Given the description of an element on the screen output the (x, y) to click on. 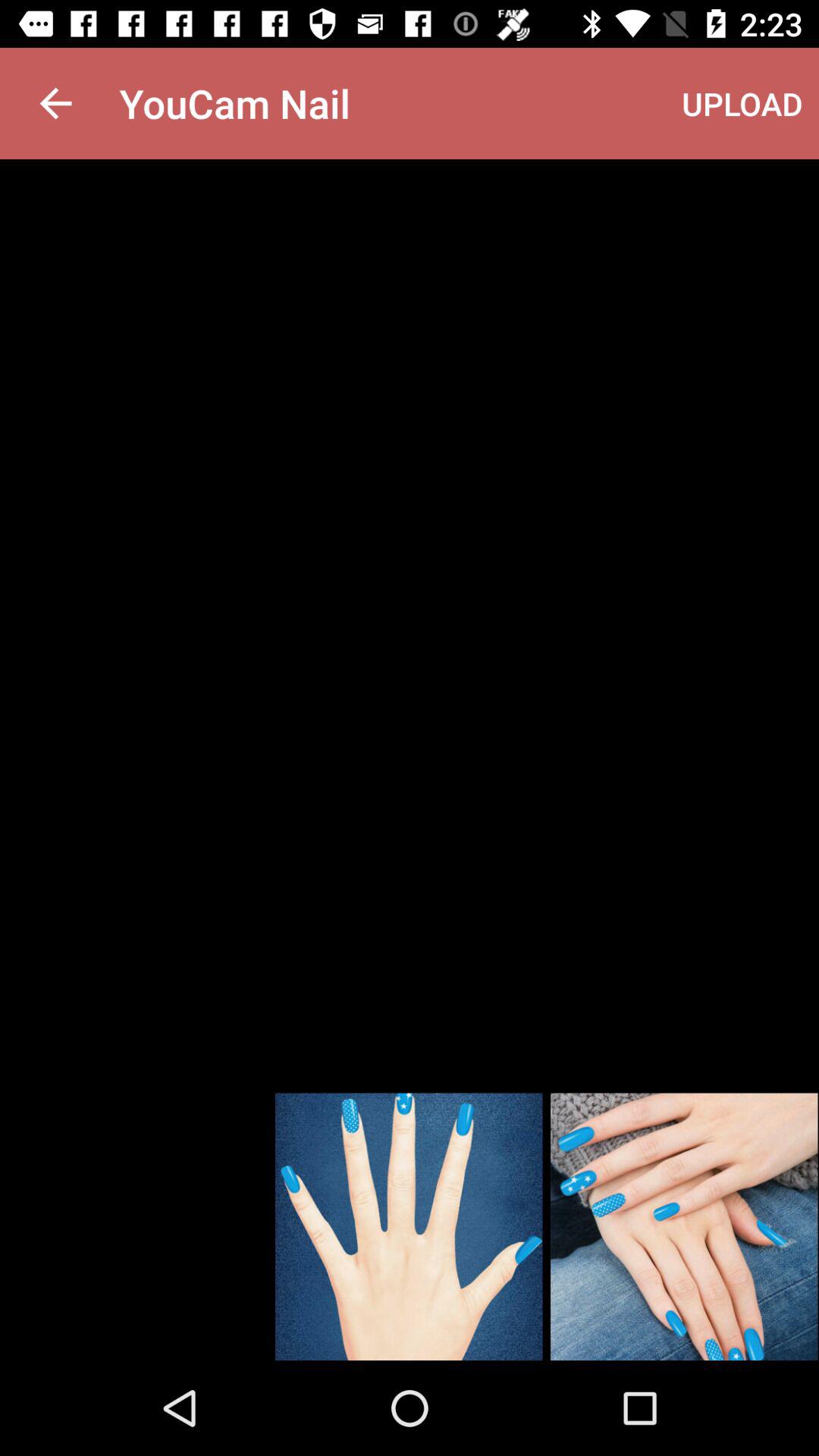
this view (408, 1226)
